Given the description of an element on the screen output the (x, y) to click on. 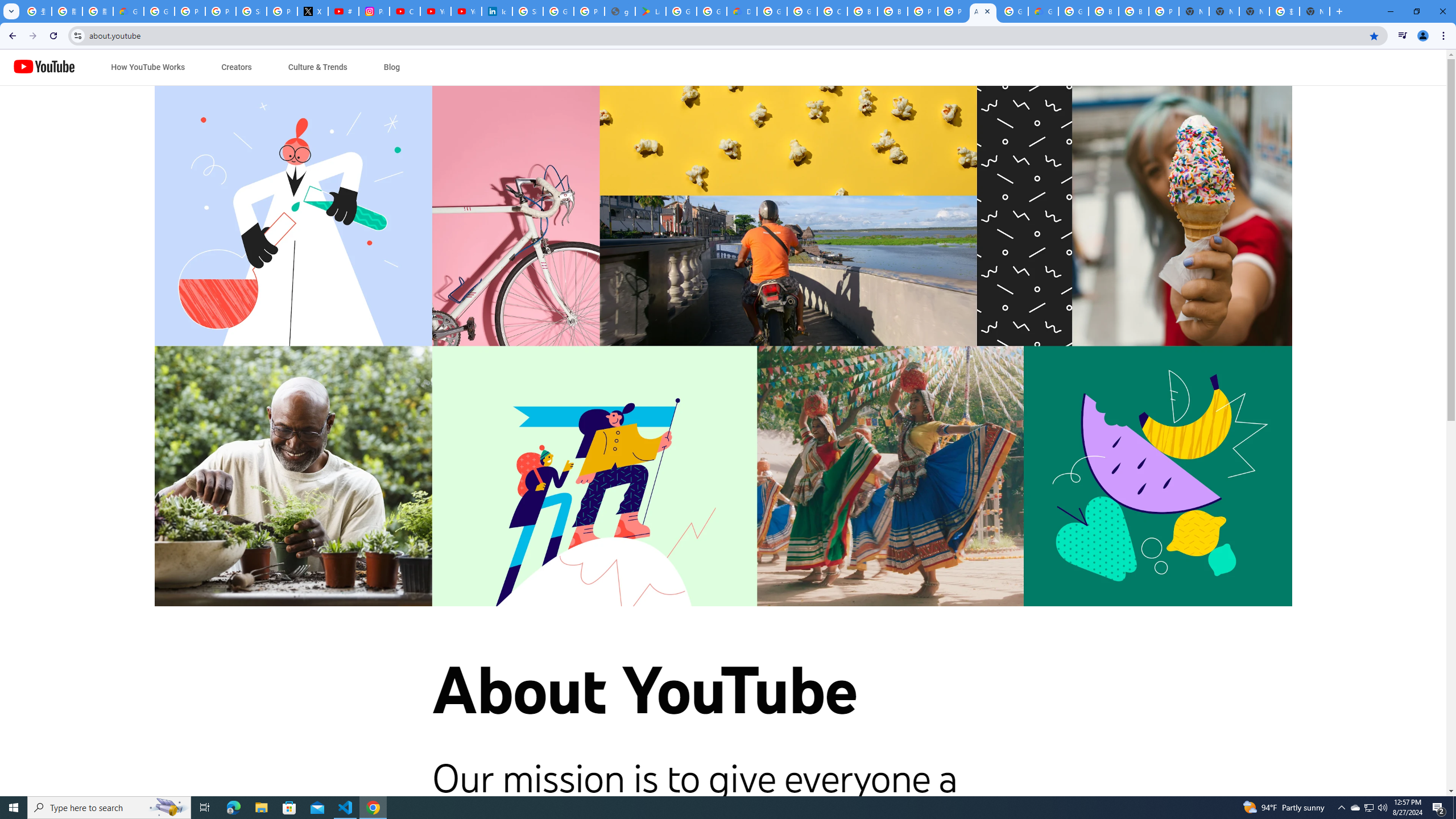
Google Cloud Platform (1072, 11)
Google Cloud Estimate Summary (1042, 11)
Creators (236, 67)
Browse Chrome as a guest - Computer - Google Chrome Help (862, 11)
About YouTube - YouTube (982, 11)
Home page link (44, 67)
New Tab (1314, 11)
